Given the description of an element on the screen output the (x, y) to click on. 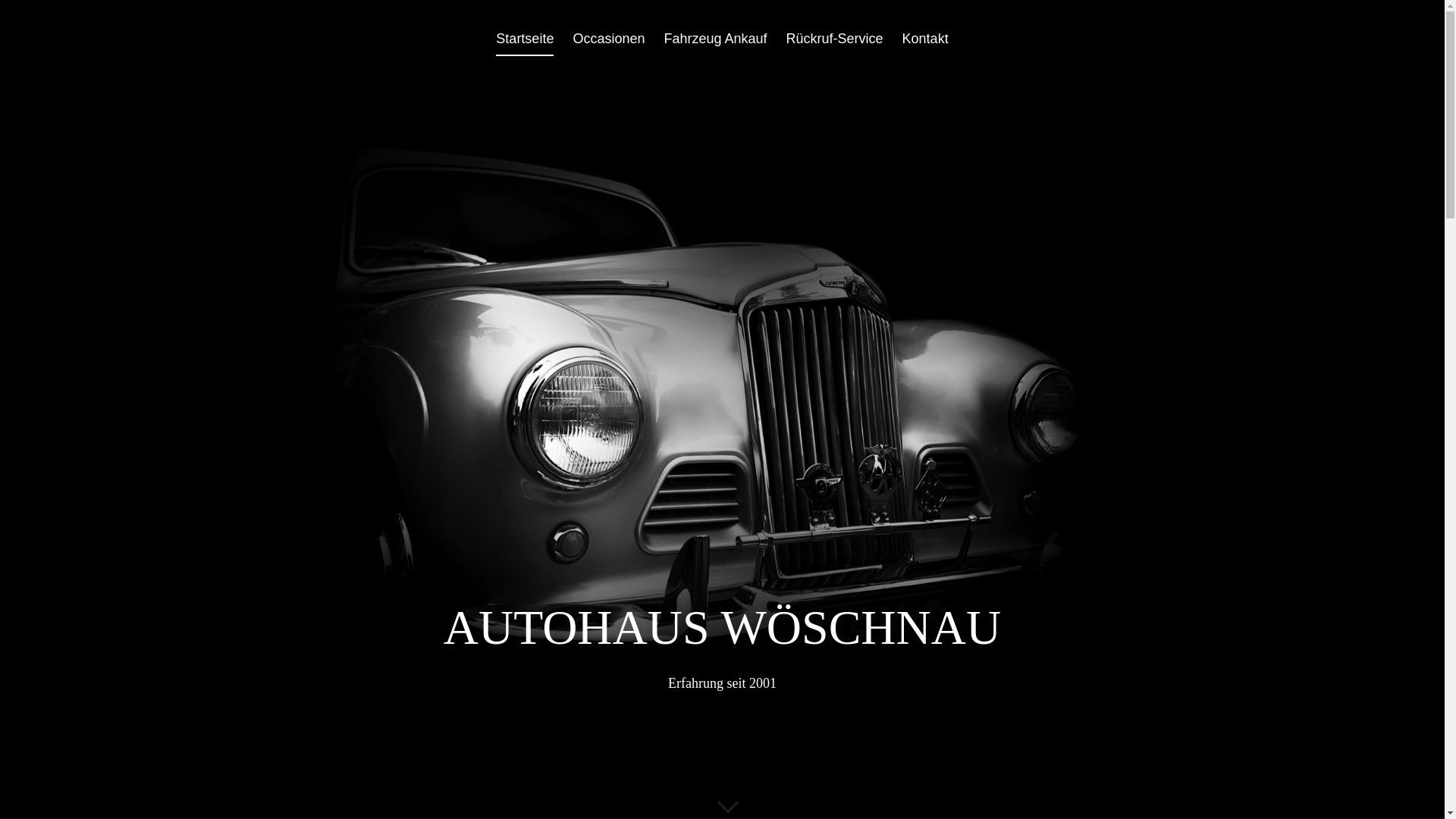
Occasionen Element type: text (608, 43)
Fahrzeug Ankauf Element type: text (714, 43)
Kontakt Element type: text (925, 43)
Startseite Element type: text (524, 43)
